Given the description of an element on the screen output the (x, y) to click on. 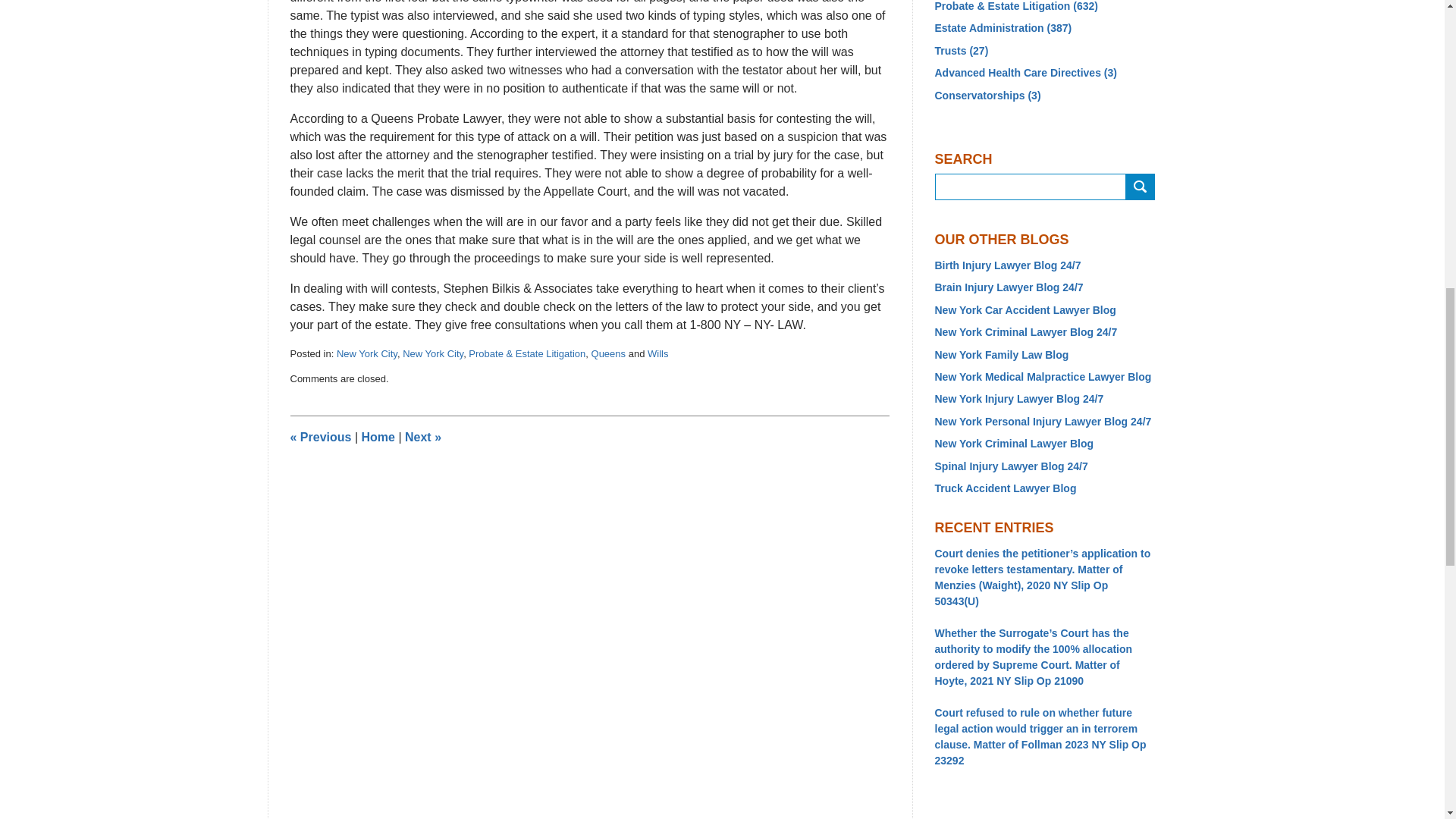
View all posts in New York City (433, 353)
Queens (608, 353)
Home (377, 436)
New York City (433, 353)
View all posts in New York City (366, 353)
View all posts in Queens (608, 353)
SEARCH (1139, 186)
New York City (366, 353)
New York Car Accident Lawyer Blog (1044, 310)
Wills (657, 353)
